Given the description of an element on the screen output the (x, y) to click on. 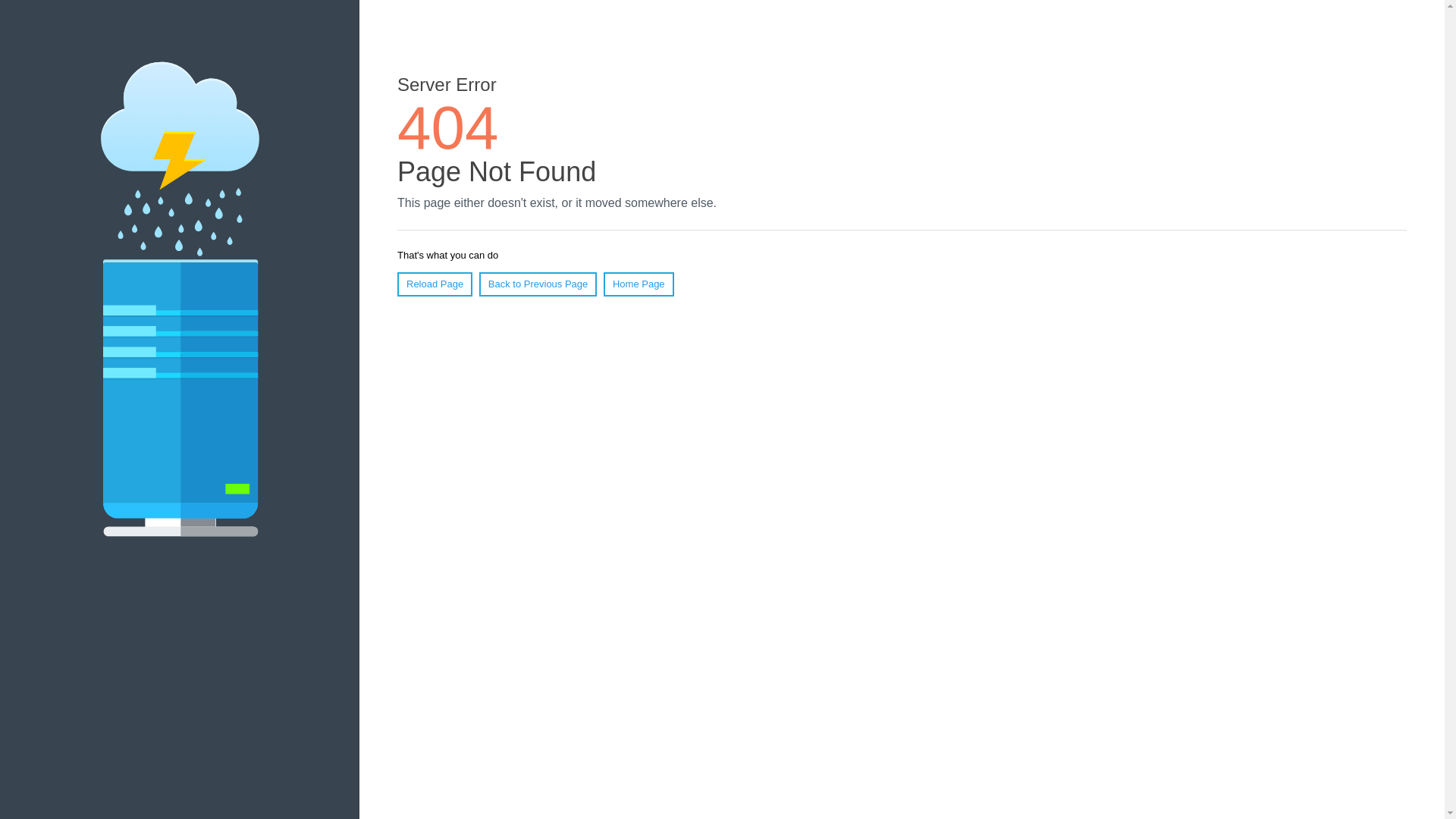
Back to Previous Page Element type: text (538, 284)
Home Page Element type: text (638, 284)
Reload Page Element type: text (434, 284)
